Given the description of an element on the screen output the (x, y) to click on. 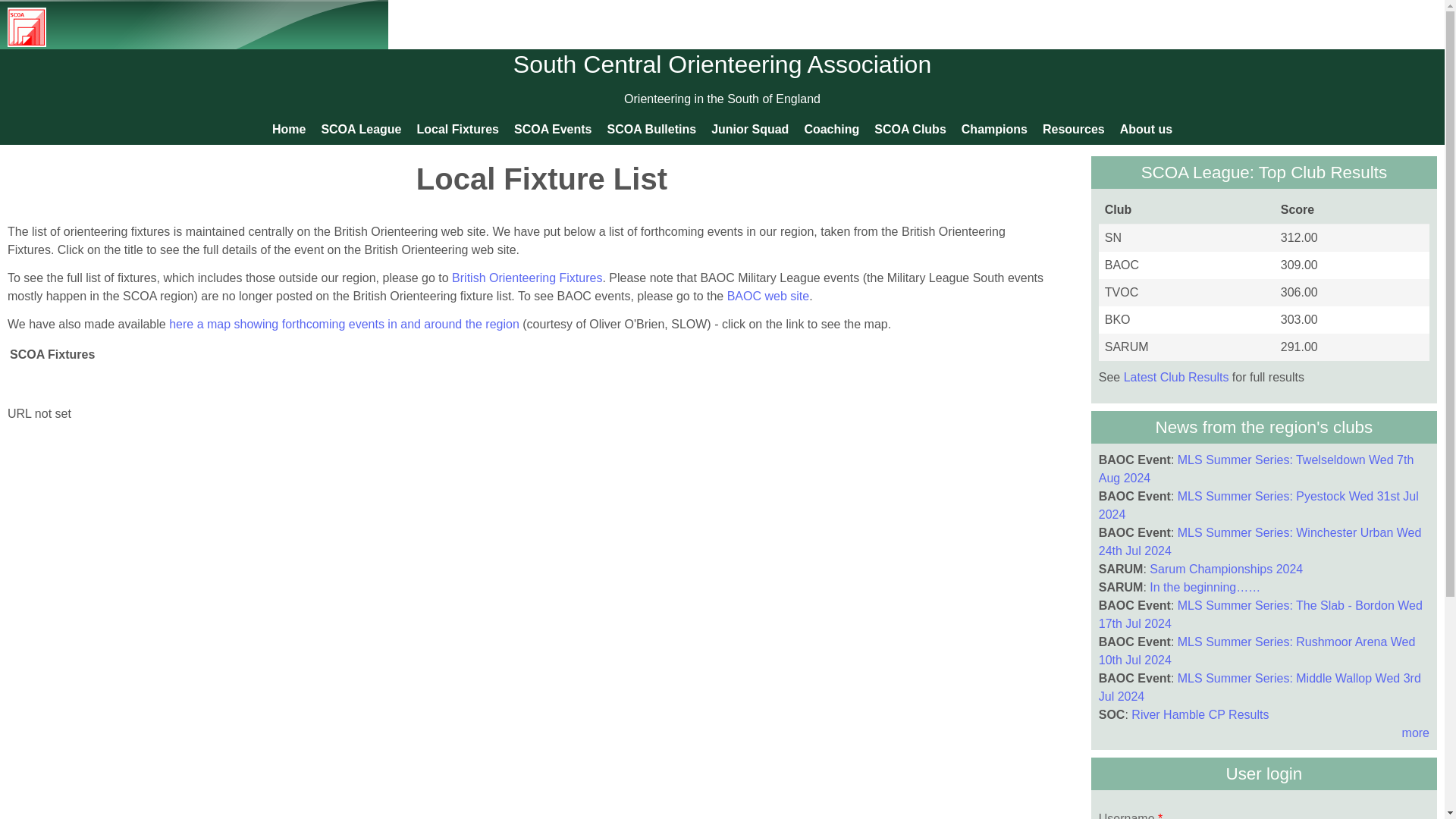
MLS Summer Series: The Slab - Bordon Wed 17th Jul 2024 (1260, 613)
MLS Summer Series: Twelseldown Wed 7th Aug 2024 (1256, 468)
Champions (994, 128)
Coaching (831, 128)
MLS Summer Series: Winchester Urban Wed 24th Jul 2024 (1260, 541)
British Orienteering Fixtures (526, 277)
Lists of SCOA and Southern Champions held by this site (994, 128)
Home (288, 128)
SCOA Events (552, 128)
Latest Club Results (1176, 377)
SCOA Bulletins (650, 128)
more (1415, 732)
Resources (1073, 128)
